Given the description of an element on the screen output the (x, y) to click on. 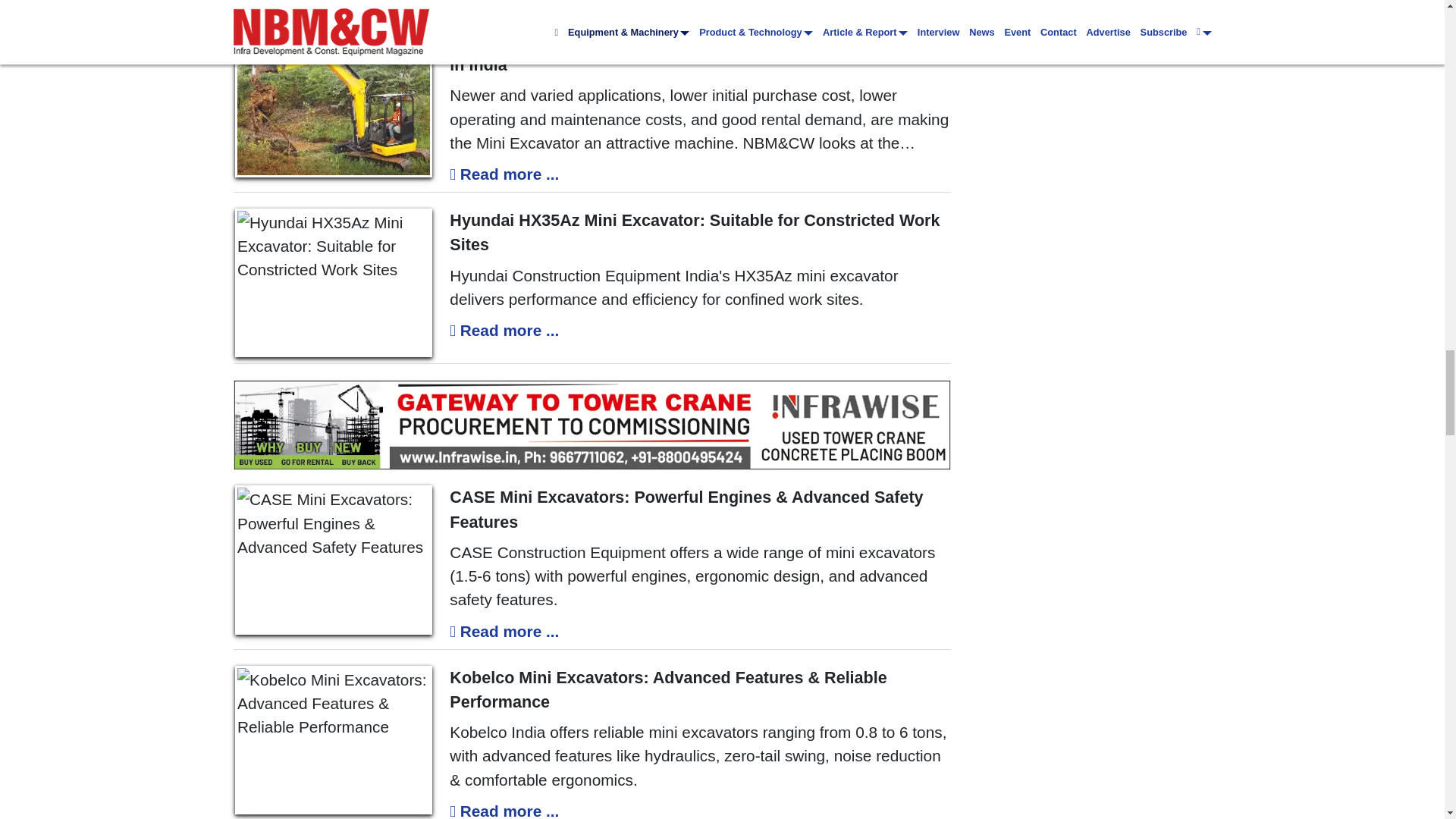
INFRAWISE - Used Tower Crane, Concrete Placing Boom (591, 424)
